Given the description of an element on the screen output the (x, y) to click on. 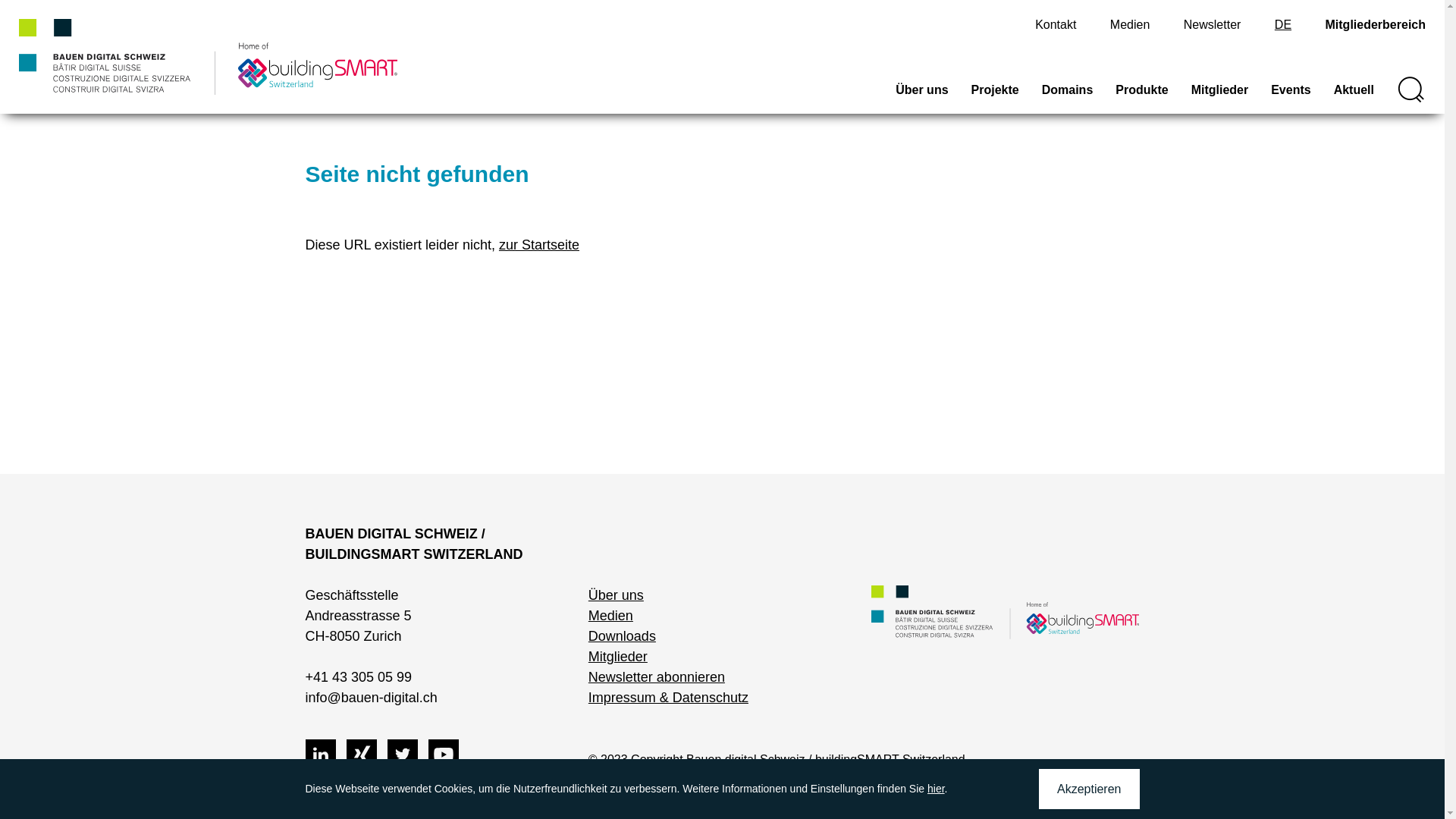
Domains Element type: text (1067, 96)
Medien Element type: text (610, 615)
Produkte Element type: text (1141, 96)
zur Startseite Element type: text (538, 244)
Impressum & Datenschutz Element type: text (668, 697)
Mitglieder Element type: text (617, 656)
Kontakt Element type: text (1055, 24)
Aktuell Element type: text (1353, 96)
Mitglieder Element type: text (1219, 96)
hier Element type: text (935, 788)
Medien Element type: text (1129, 24)
+41 43 305 05 99 Element type: text (357, 676)
Downloads Element type: text (621, 635)
Projekte Element type: text (995, 96)
Newsletter abonnieren Element type: text (656, 676)
info@bauen-digital.ch Element type: text (370, 697)
Mitgliederbereich Element type: text (1375, 24)
Akzeptieren Element type: text (1088, 788)
Events Element type: text (1290, 96)
DE Element type: text (1282, 24)
Newsletter Element type: text (1212, 24)
